Given the description of an element on the screen output the (x, y) to click on. 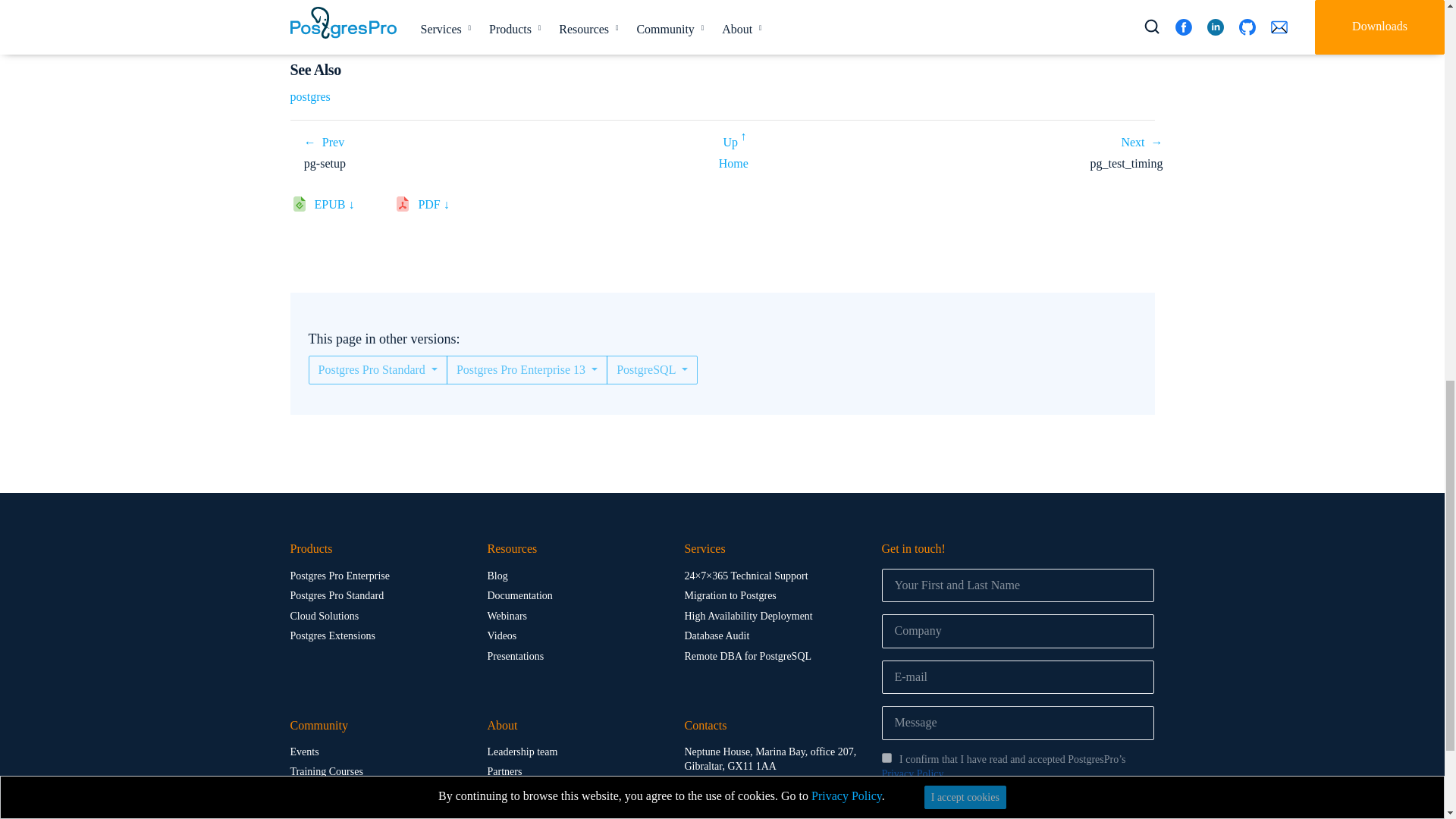
postgres (309, 96)
on (885, 757)
on (885, 802)
Postgres Pro Enterprise 13.15.2 Documentation (733, 163)
pdf (438, 207)
Postgres Pro Server Applications (733, 138)
Facebook (692, 812)
pg-setup (323, 141)
epub (339, 207)
